Given the description of an element on the screen output the (x, y) to click on. 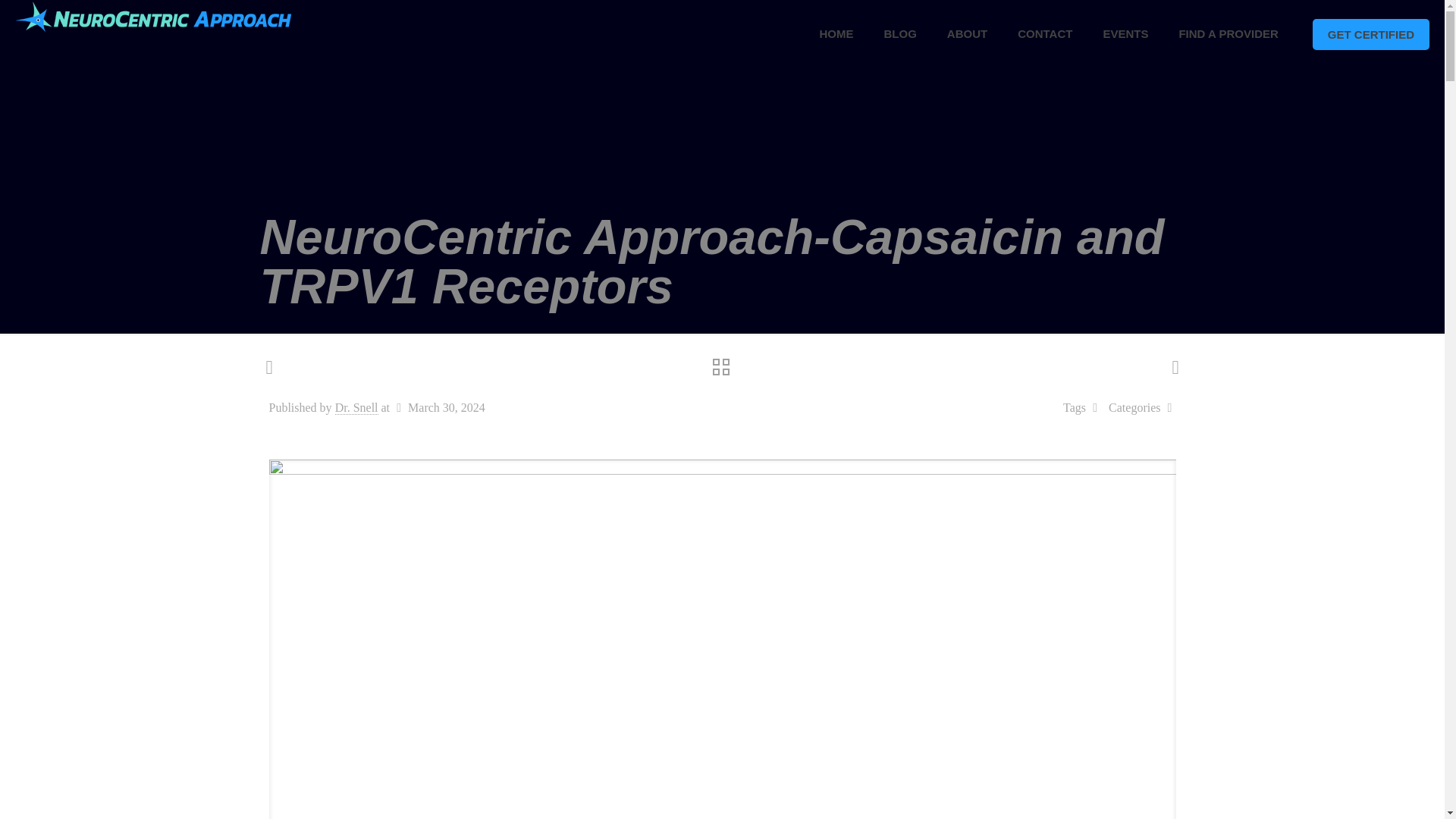
BLOG (900, 33)
GET CERTIFIED (1371, 33)
CONTACT (1045, 33)
NeuroCentric Approach (156, 15)
ABOUT (967, 33)
FIND A PROVIDER (1227, 33)
HOME (837, 33)
EVENTS (1125, 33)
Dr. Snell (356, 407)
